Given the description of an element on the screen output the (x, y) to click on. 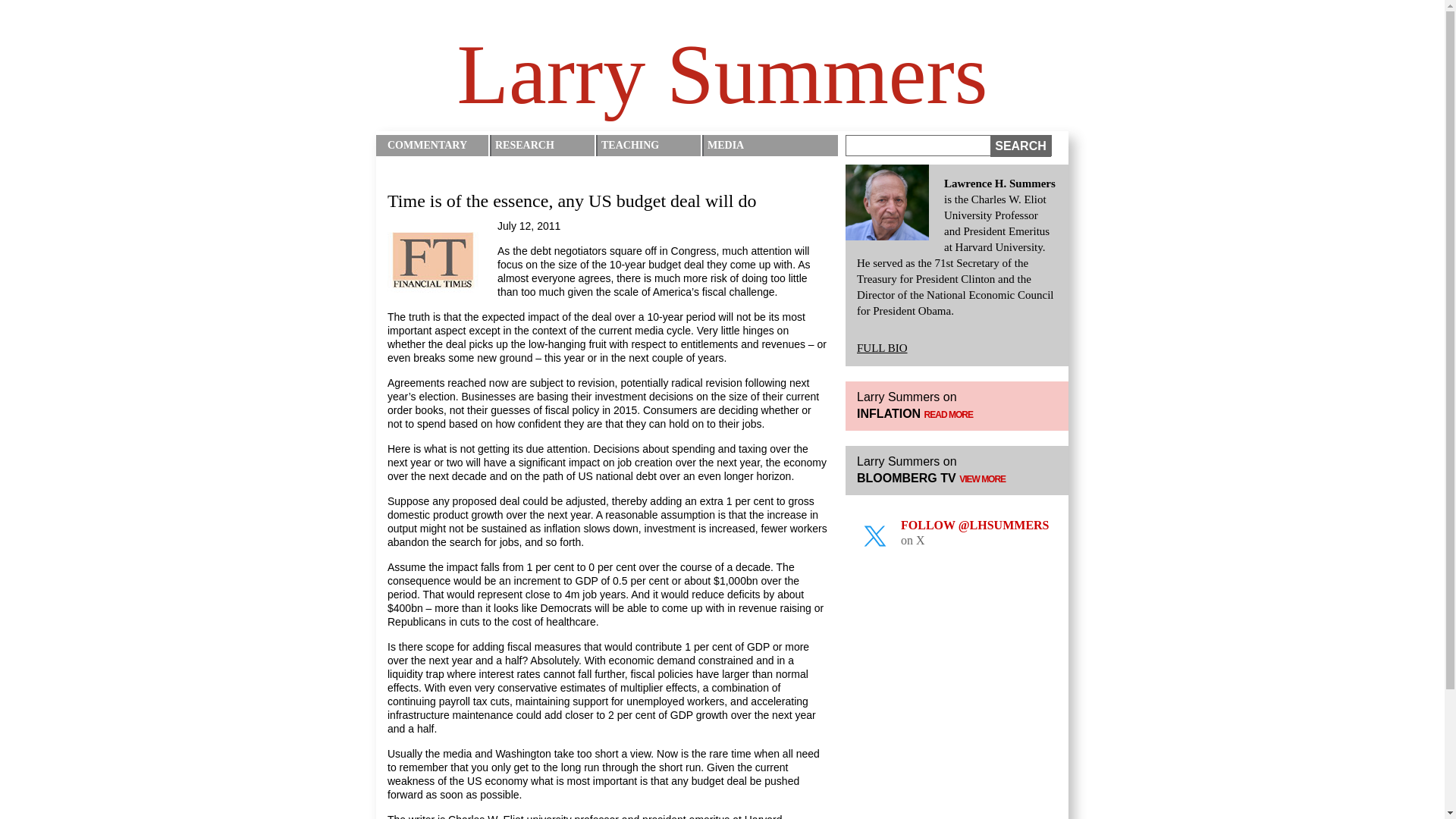
RESEARCH (544, 145)
Search (1020, 146)
READ MORE (948, 414)
Larry Summers (722, 74)
VIEW MORE (982, 479)
MEDIA RESOURCES (757, 156)
Search (1020, 146)
Search (1020, 146)
Larry Summers (722, 74)
COMMENTARY (437, 145)
